Given the description of an element on the screen output the (x, y) to click on. 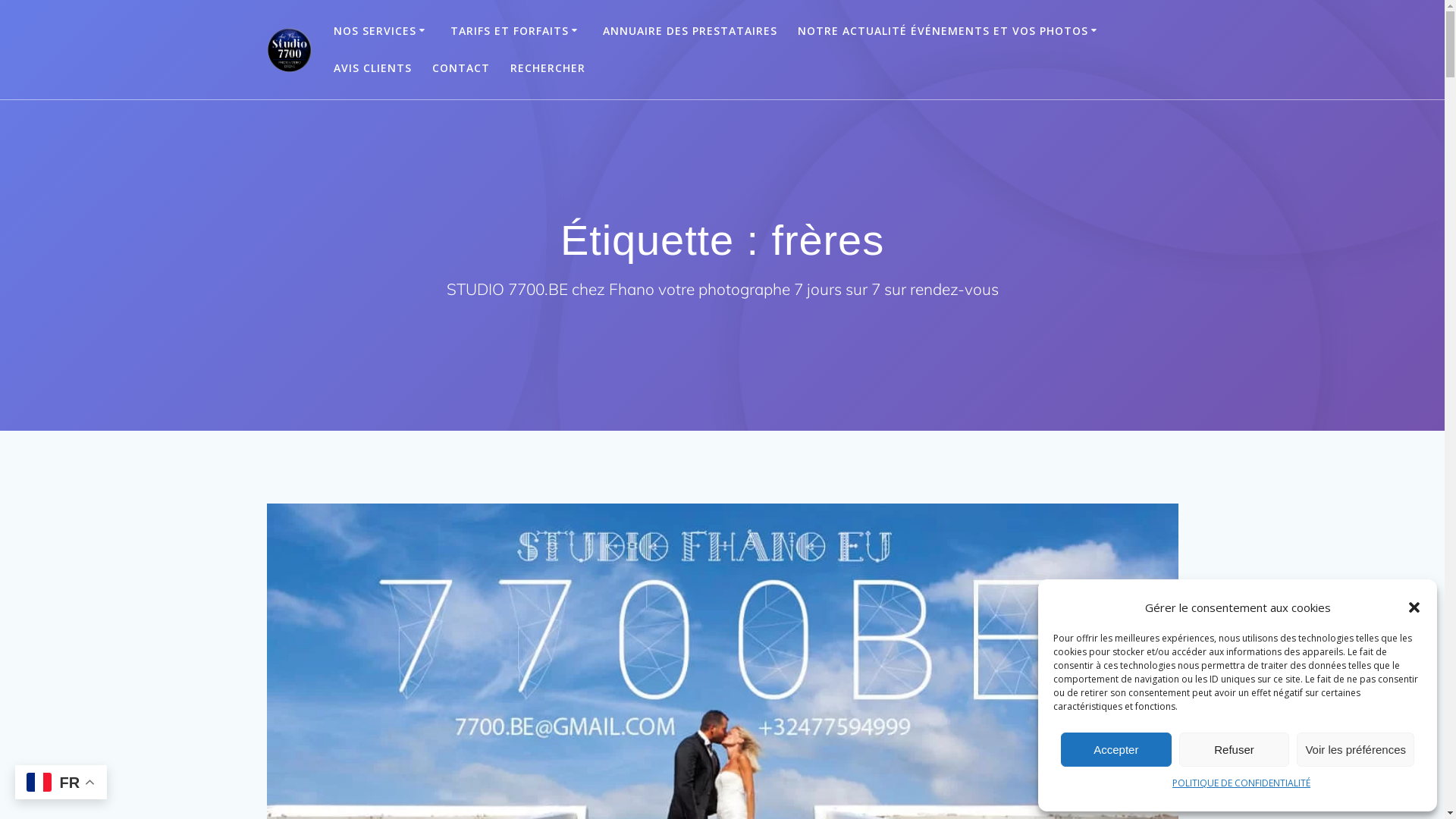
TARIFS ET FORFAITS Element type: text (516, 30)
AVIS CLIENTS Element type: text (372, 67)
RECHERCHER Element type: text (547, 67)
NOS SERVICES Element type: text (381, 30)
CONTACT Element type: text (460, 67)
Refuser Element type: text (1234, 749)
Accepter Element type: text (1115, 749)
ANNUAIRE DES PRESTATAIRES Element type: text (689, 30)
